Given the description of an element on the screen output the (x, y) to click on. 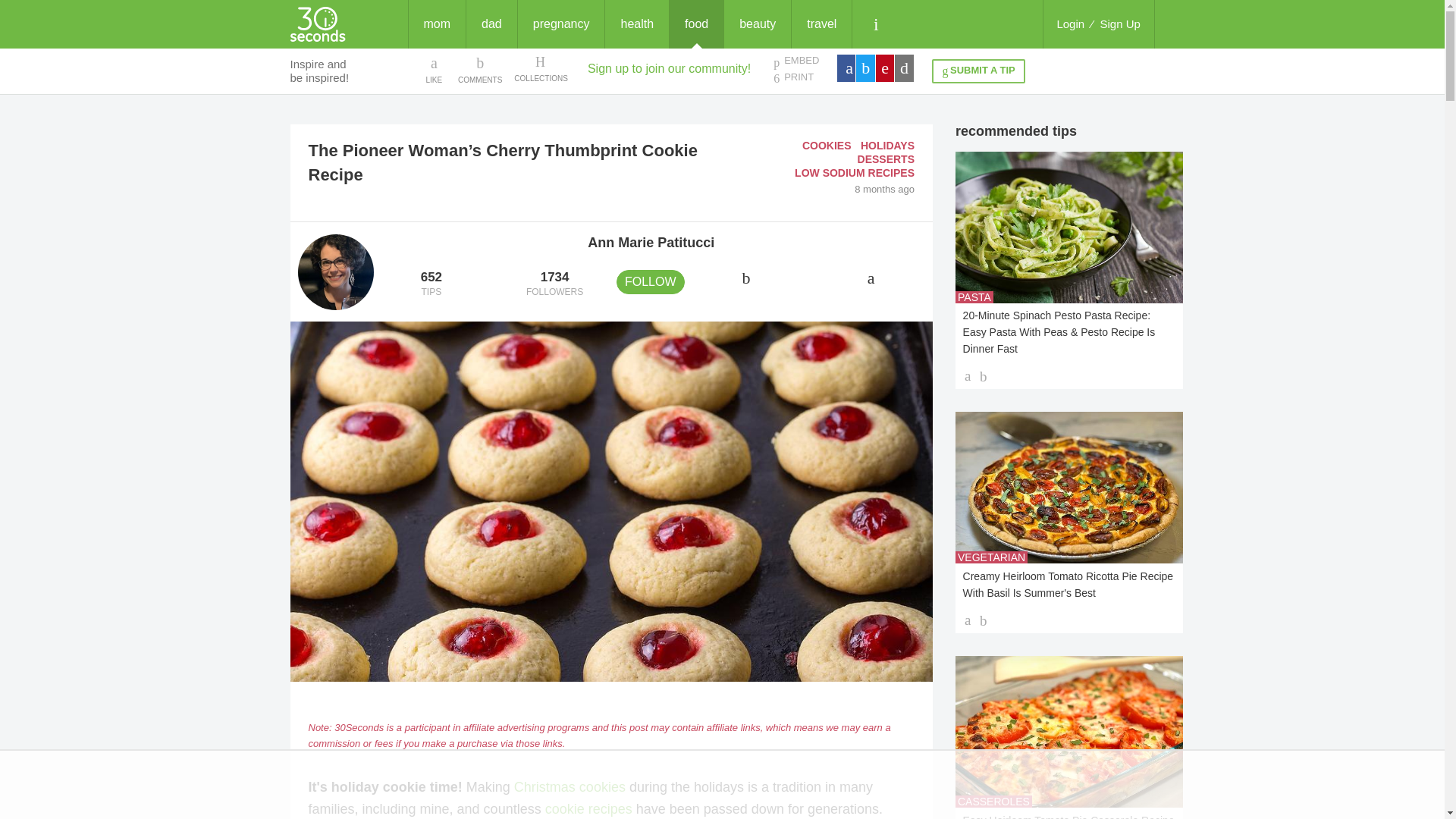
EMBED (795, 61)
dad (490, 24)
COOKIES (826, 145)
pregnancy (554, 283)
COMMENTS (561, 24)
LOW SODIUM RECIPES (480, 68)
COMMENTS (854, 173)
Sign up to join our community! (480, 68)
HOLIDAYS (669, 68)
